Given the description of an element on the screen output the (x, y) to click on. 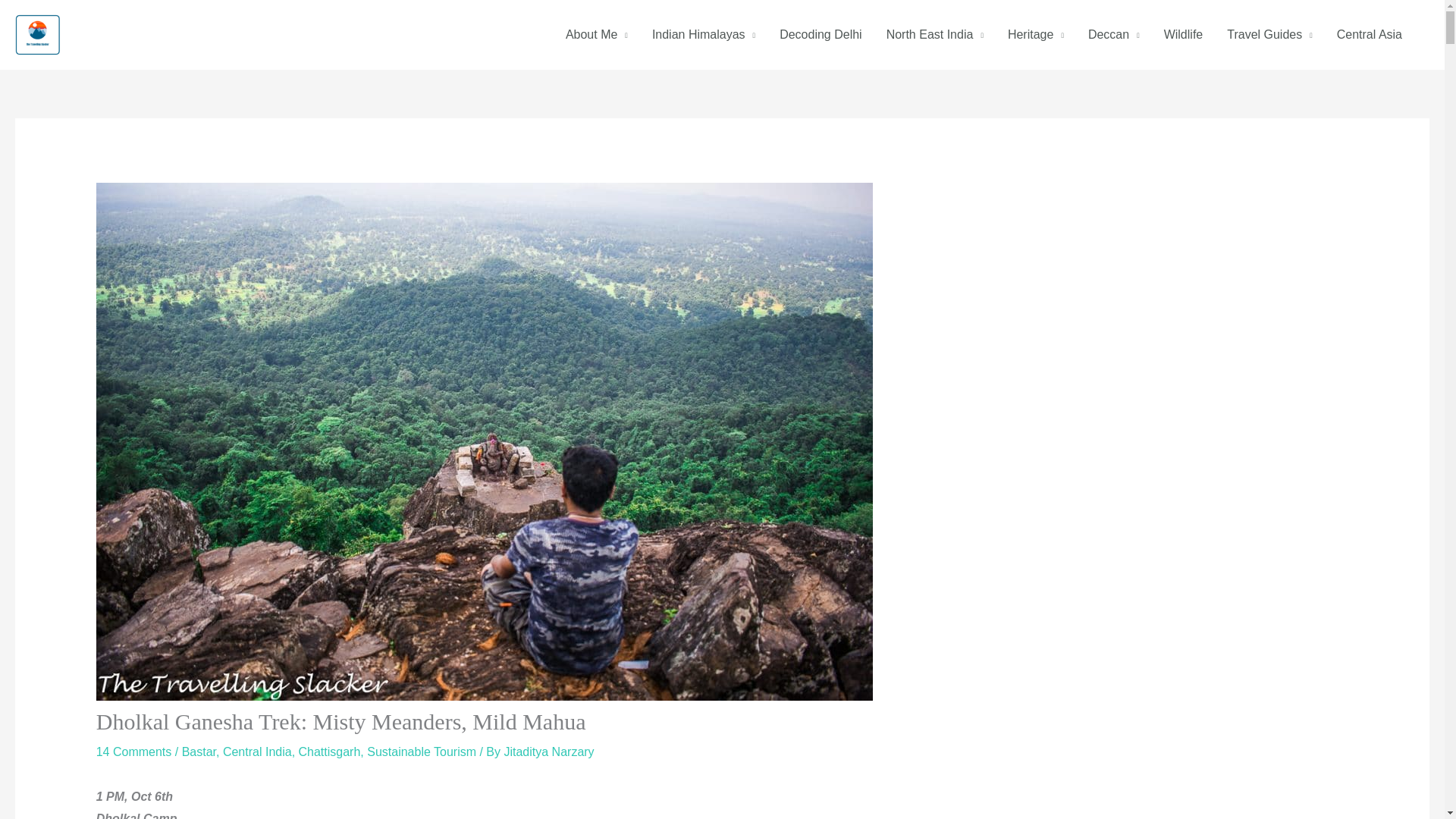
Indian Himalayas (703, 34)
Heritage (1035, 34)
Decoding Delhi (821, 34)
About Me (596, 34)
View all posts by Jitaditya Narzary (548, 751)
North East India (935, 34)
